Given the description of an element on the screen output the (x, y) to click on. 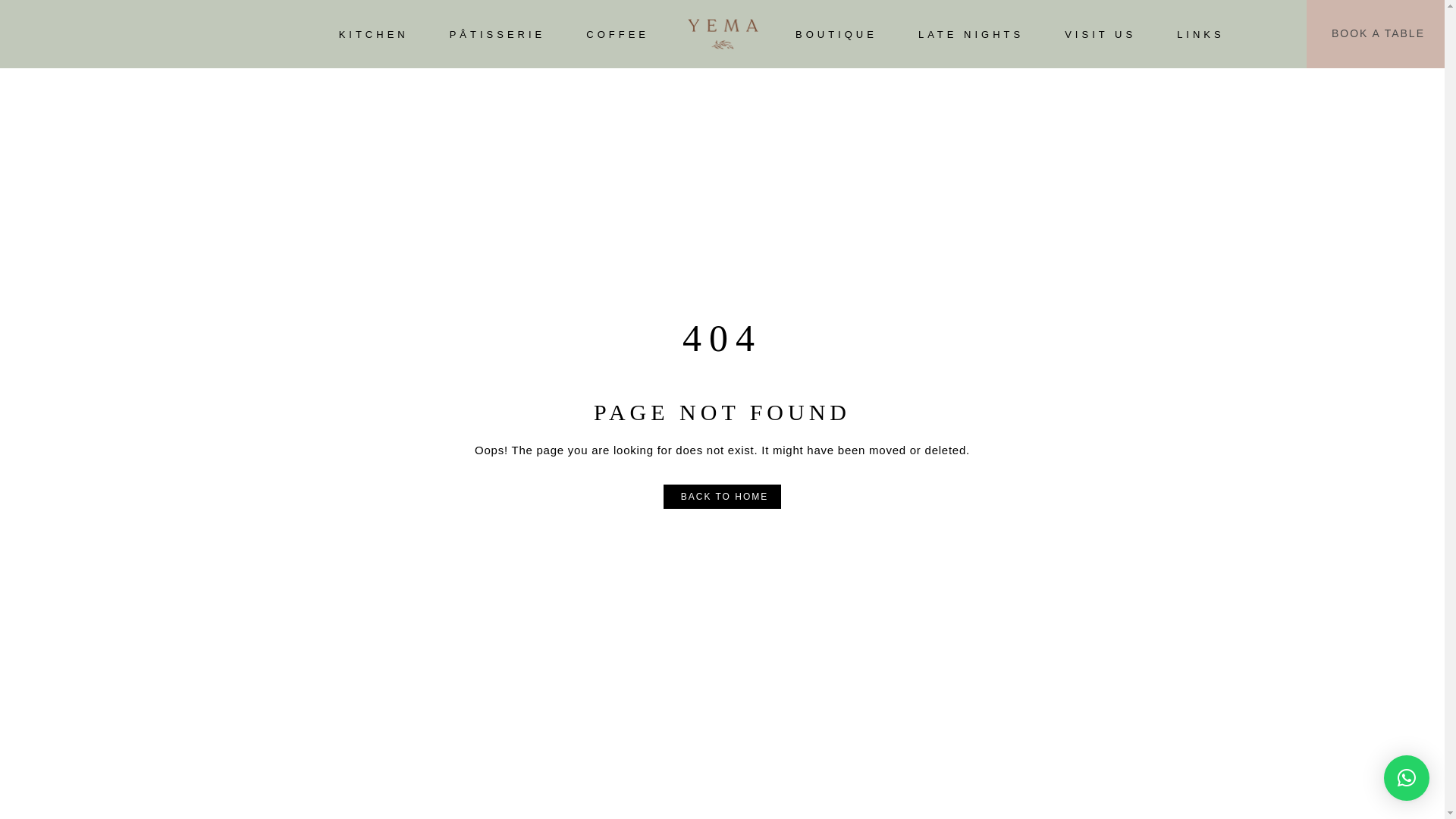
COFFEE (617, 33)
BACK TO HOME (722, 496)
KITCHEN (373, 33)
LATE NIGHTS (970, 33)
LINKS (1200, 33)
BOUTIQUE (836, 33)
VISIT US (1099, 33)
